Given the description of an element on the screen output the (x, y) to click on. 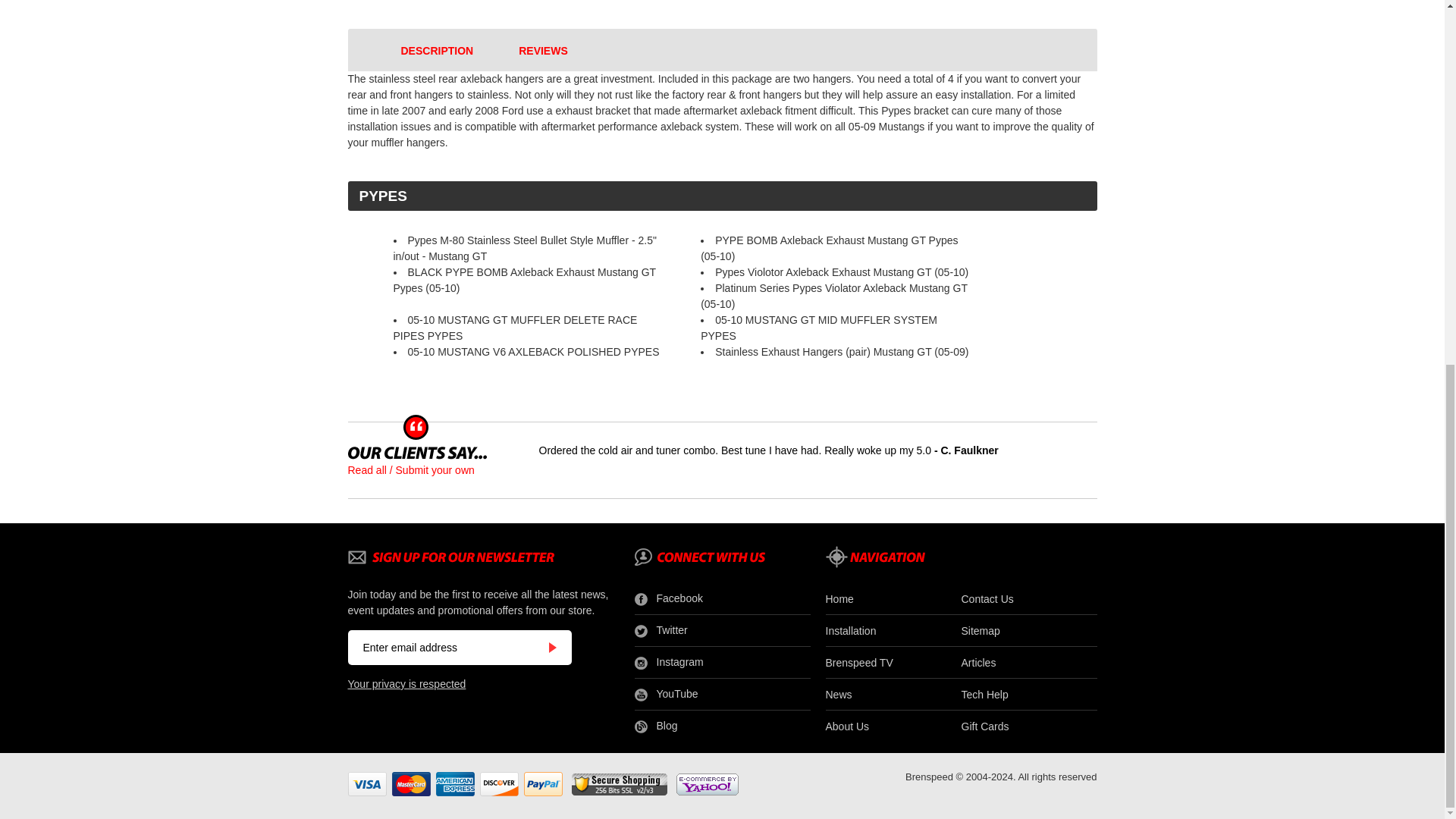
Enter email address (447, 647)
VISA, MC, AmEx, DISCOVER, PayPal (454, 784)
Secure Shopping (619, 783)
Prop65Warning (750, 4)
Our Clients Say... (416, 452)
